Given the description of an element on the screen output the (x, y) to click on. 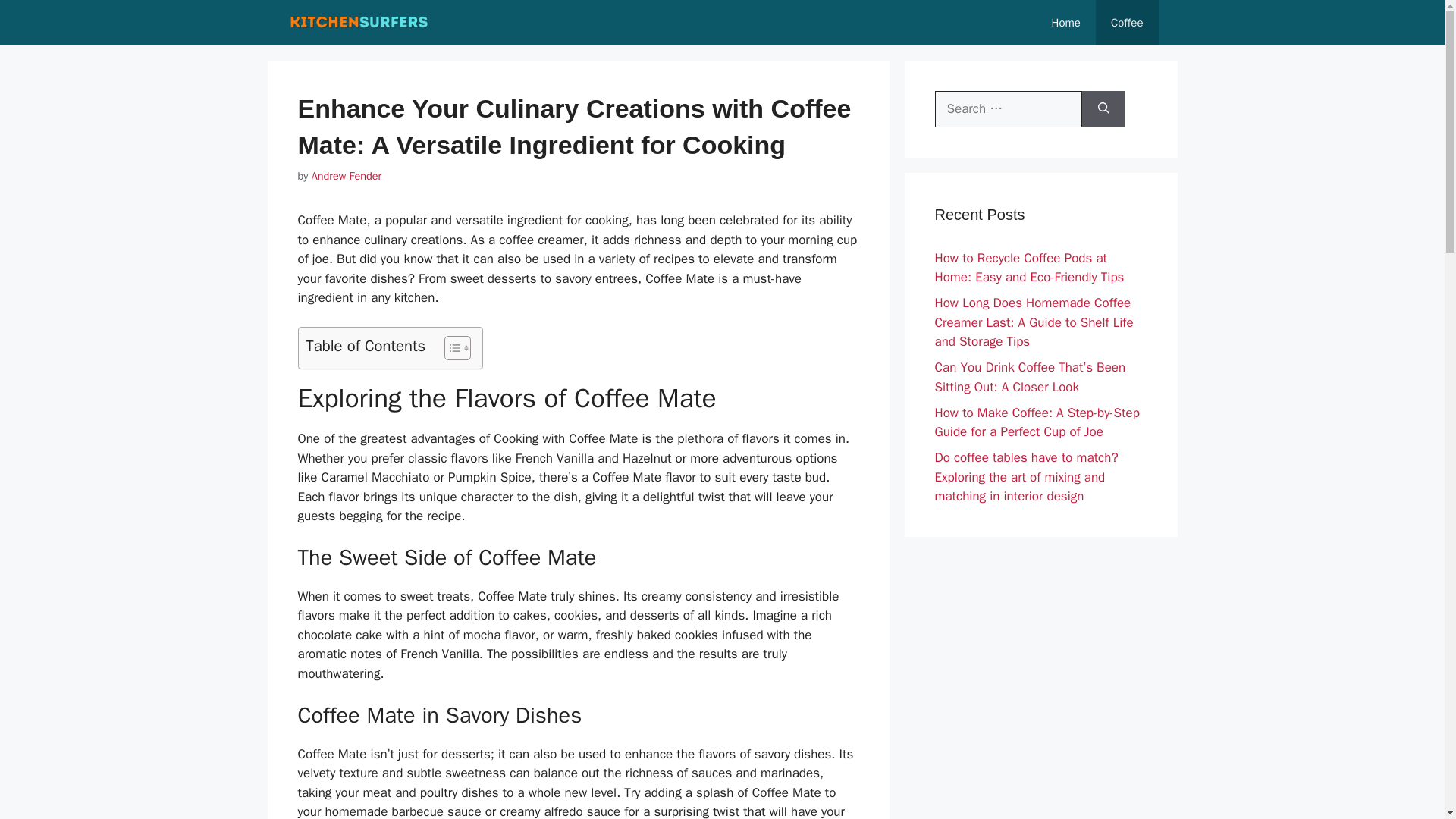
Home (1066, 22)
Andrew Fender (346, 175)
Coffee (1127, 22)
View all posts by Andrew Fender (346, 175)
KitchenSurfers (359, 22)
